Given the description of an element on the screen output the (x, y) to click on. 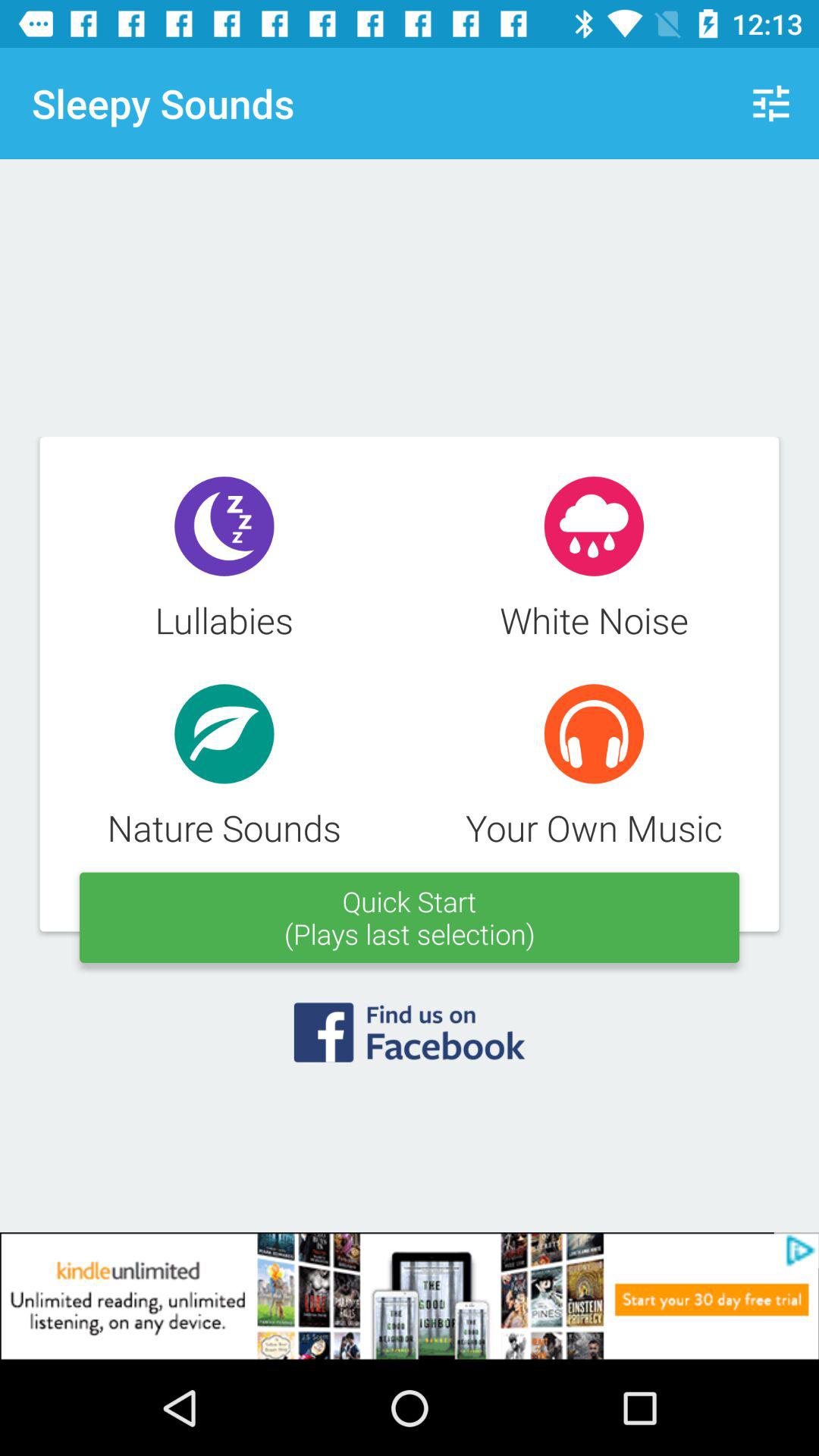
open the app facebook page (409, 1042)
